Given the description of an element on the screen output the (x, y) to click on. 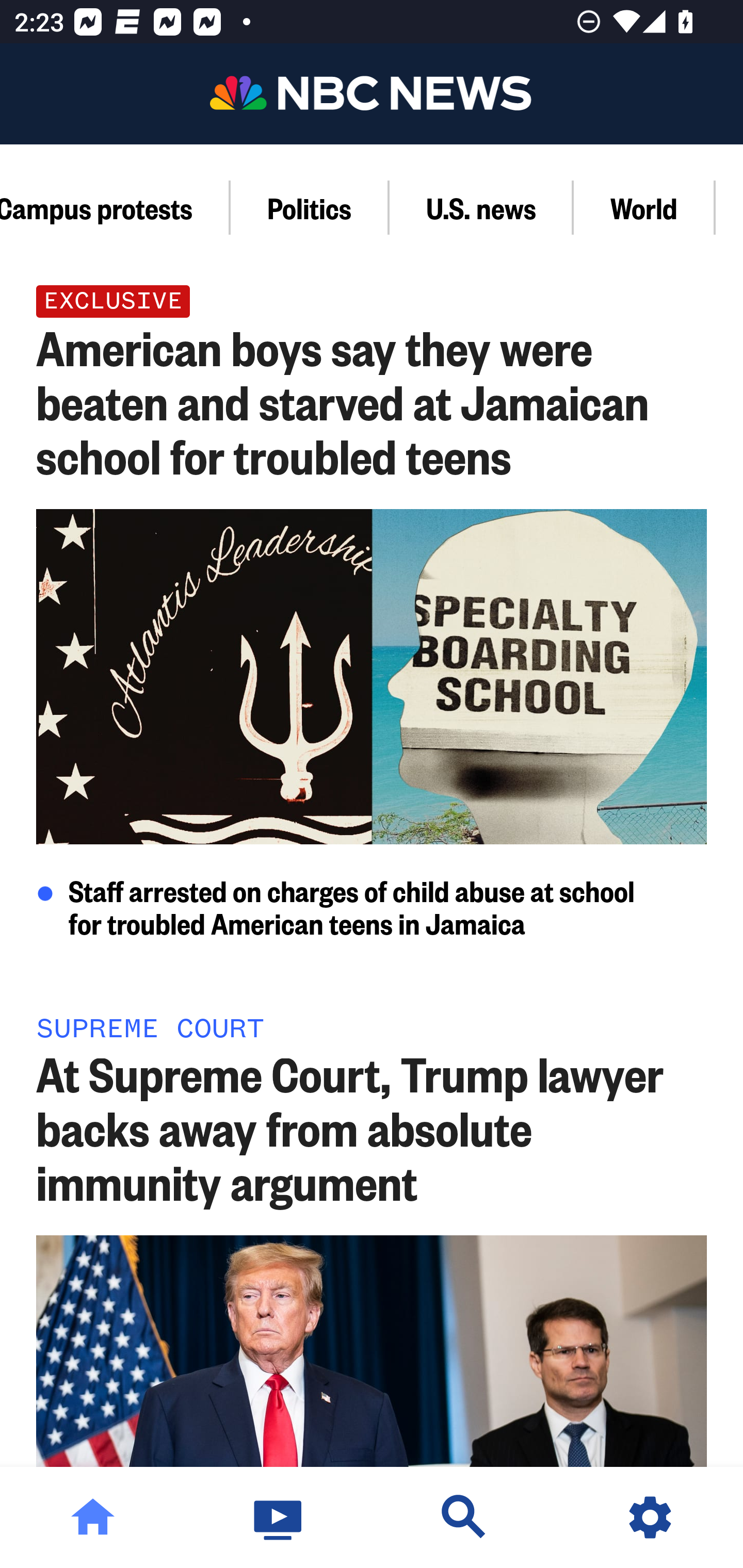
Campus protests (115, 207)
Politics Section,Politics (309, 207)
U.S. news Section,U.S. news (481, 207)
World Section,World (644, 207)
Watch (278, 1517)
Discover (464, 1517)
Settings (650, 1517)
